Given the description of an element on the screen output the (x, y) to click on. 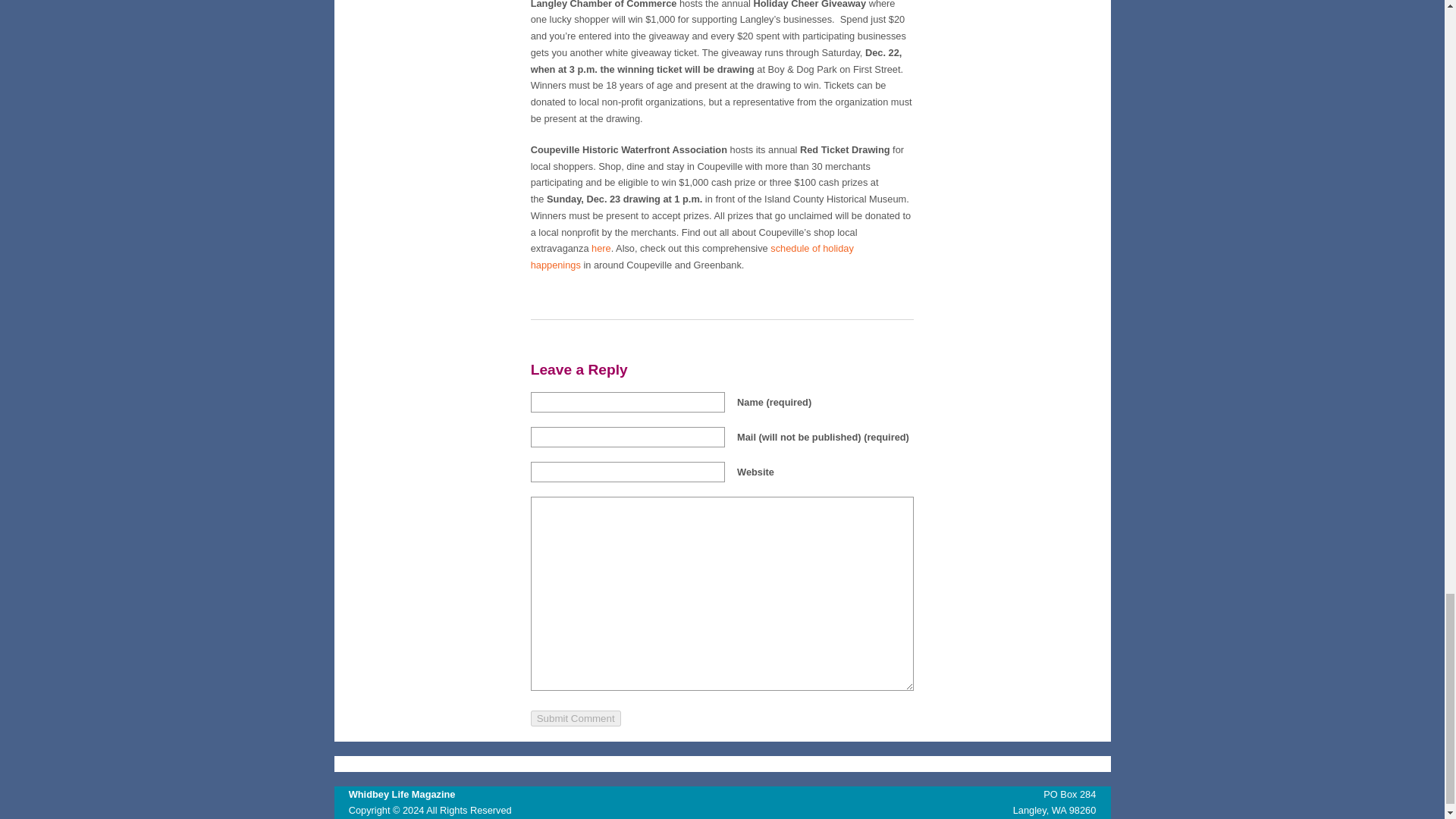
Submit Comment (576, 718)
